Given the description of an element on the screen output the (x, y) to click on. 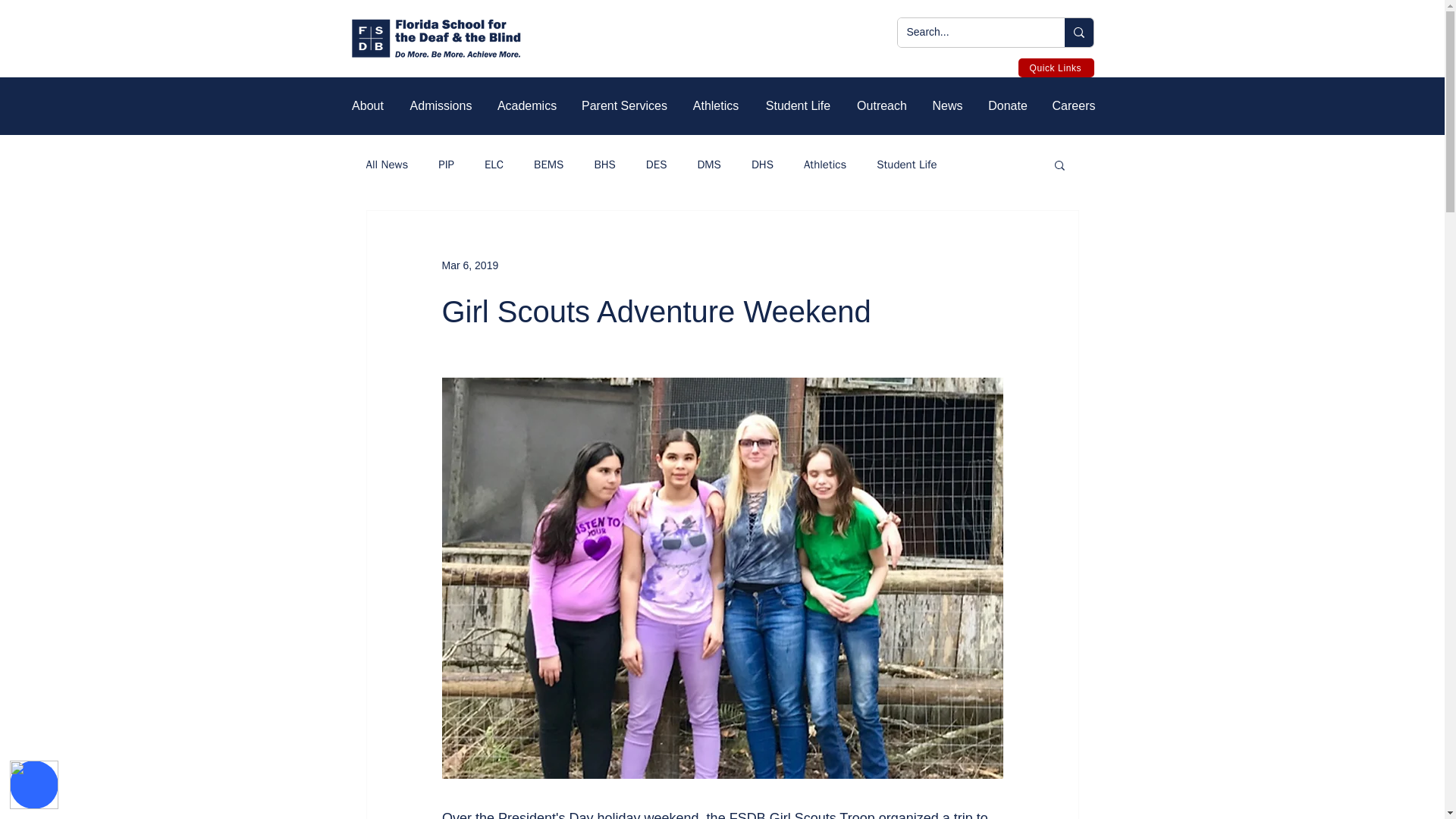
News (946, 105)
PIP (446, 164)
Athletics (715, 105)
Outreach (880, 105)
FSDB Logo (435, 37)
About (367, 105)
Parent Services (623, 105)
ELC (493, 164)
Academics (526, 105)
Quick Links (1055, 67)
